Given the description of an element on the screen output the (x, y) to click on. 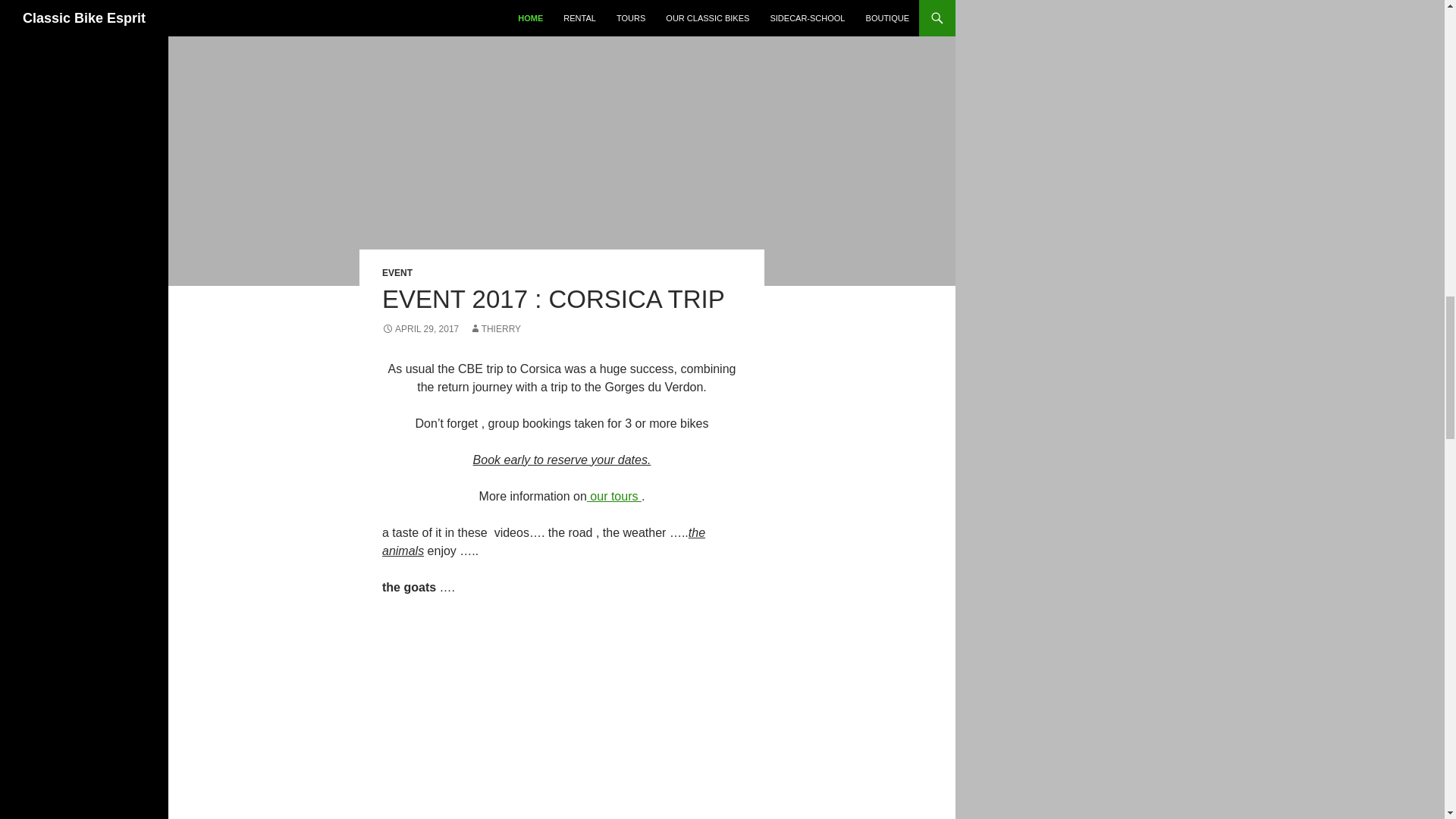
our tours (614, 495)
THIERRY (494, 328)
APRIL 29, 2017 (419, 328)
EVENT (396, 272)
EVENT 2017 : CORSICA TRIP (553, 298)
